Given the description of an element on the screen output the (x, y) to click on. 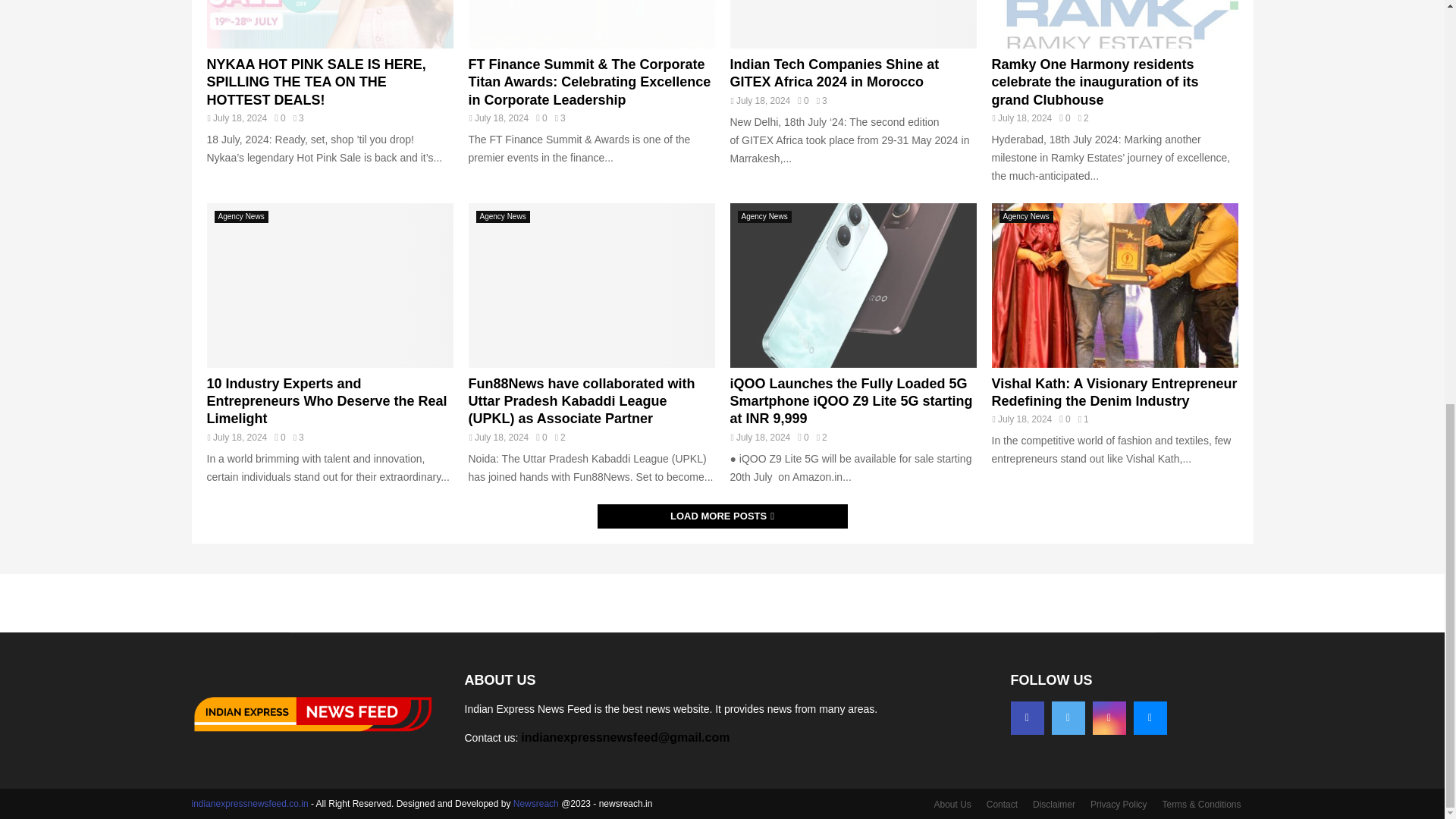
Indian Tech Companies Shine at GITEX Africa 2024 in Morocco (852, 24)
0 (280, 437)
0 (541, 118)
0 (802, 100)
Indian Tech Companies Shine at GITEX Africa 2024 in Morocco (834, 72)
Agency News (240, 216)
